Given the description of an element on the screen output the (x, y) to click on. 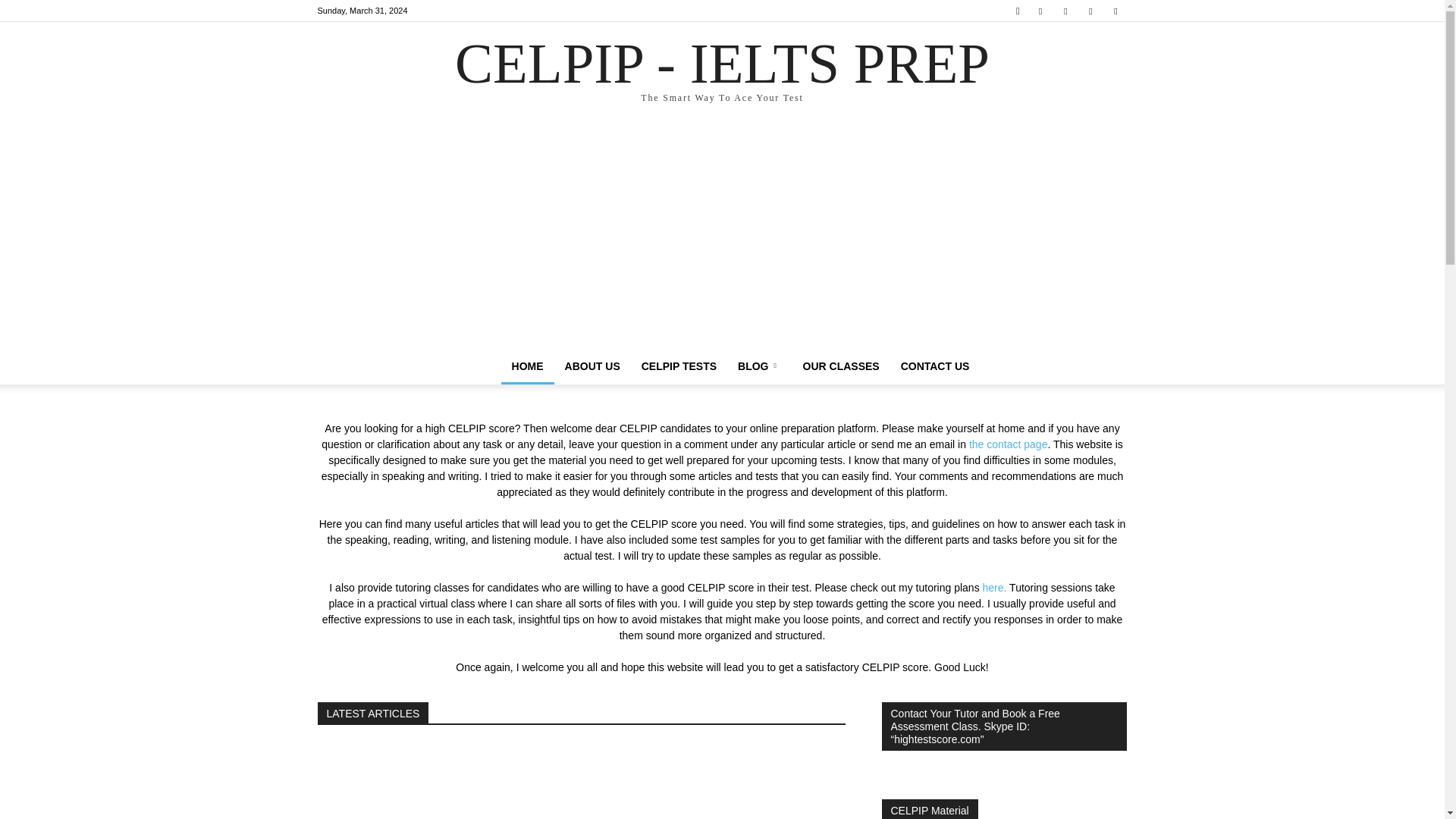
Twitter (1090, 10)
CELPIP listening tips (439, 781)
Facebook (1040, 10)
CONTACT US (934, 366)
ABOUT US (592, 366)
CELPIP TESTS (678, 366)
BLOG (722, 72)
the contact page (759, 366)
HOME (1008, 444)
Youtube (527, 366)
Search (1114, 10)
CELPIP Writing Test 5 (1085, 64)
here. (721, 781)
Advertisement (994, 587)
